Given the description of an element on the screen output the (x, y) to click on. 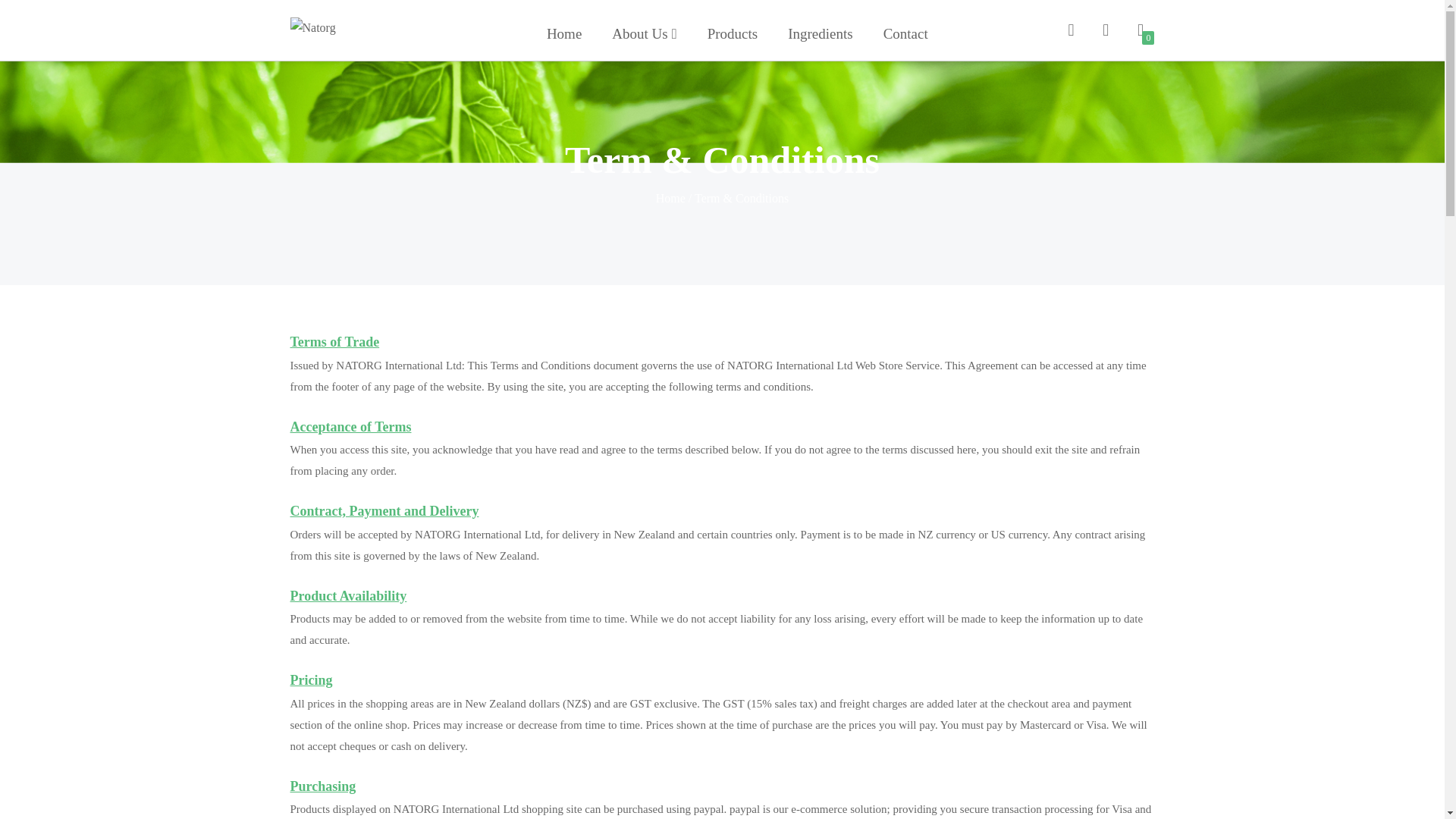
About Us (643, 33)
Contact (905, 33)
Login (1106, 31)
Products (733, 33)
Ingredients (820, 33)
Home (670, 197)
Home (563, 33)
